Given the description of an element on the screen output the (x, y) to click on. 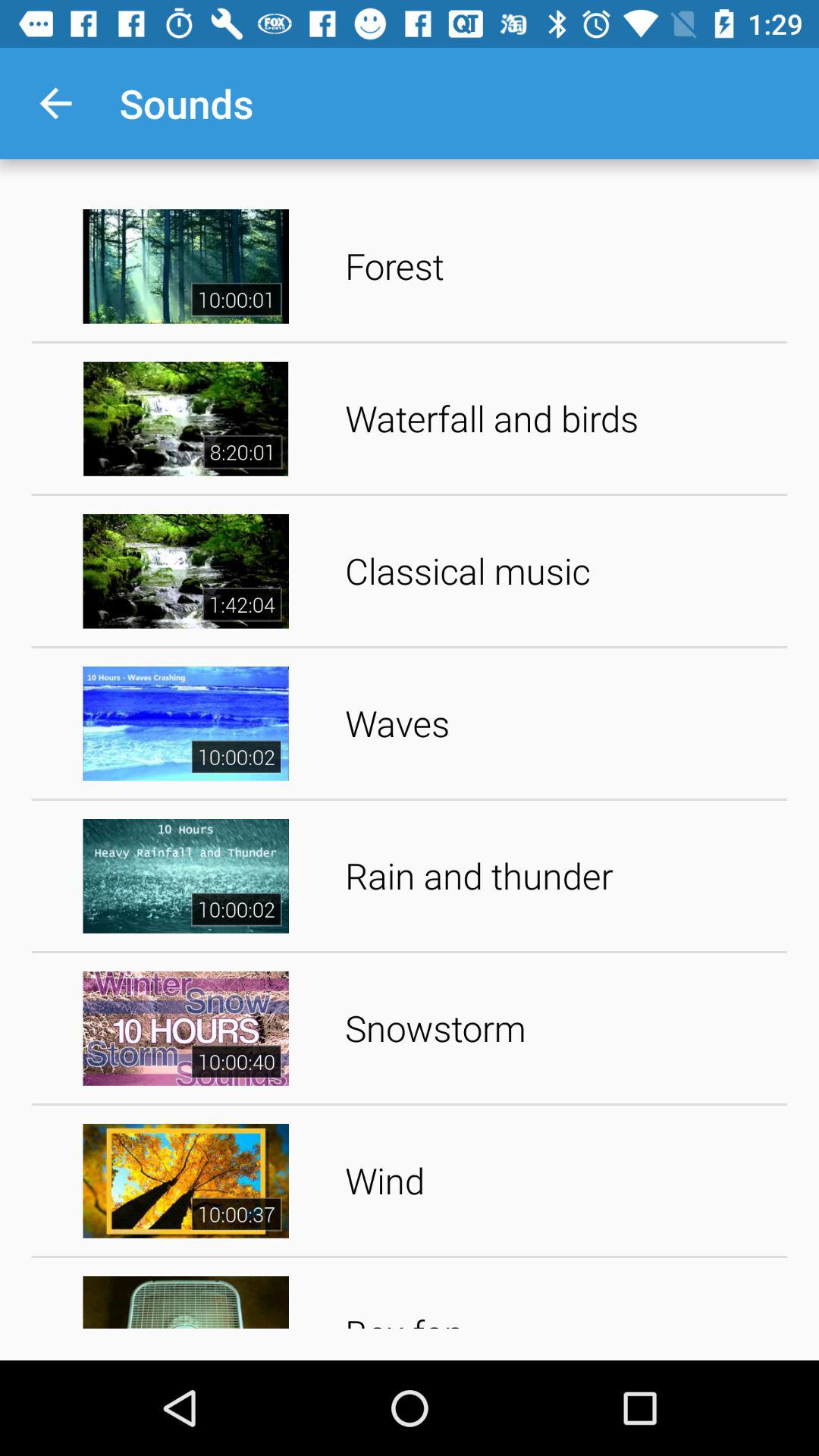
tap waves app (560, 723)
